Given the description of an element on the screen output the (x, y) to click on. 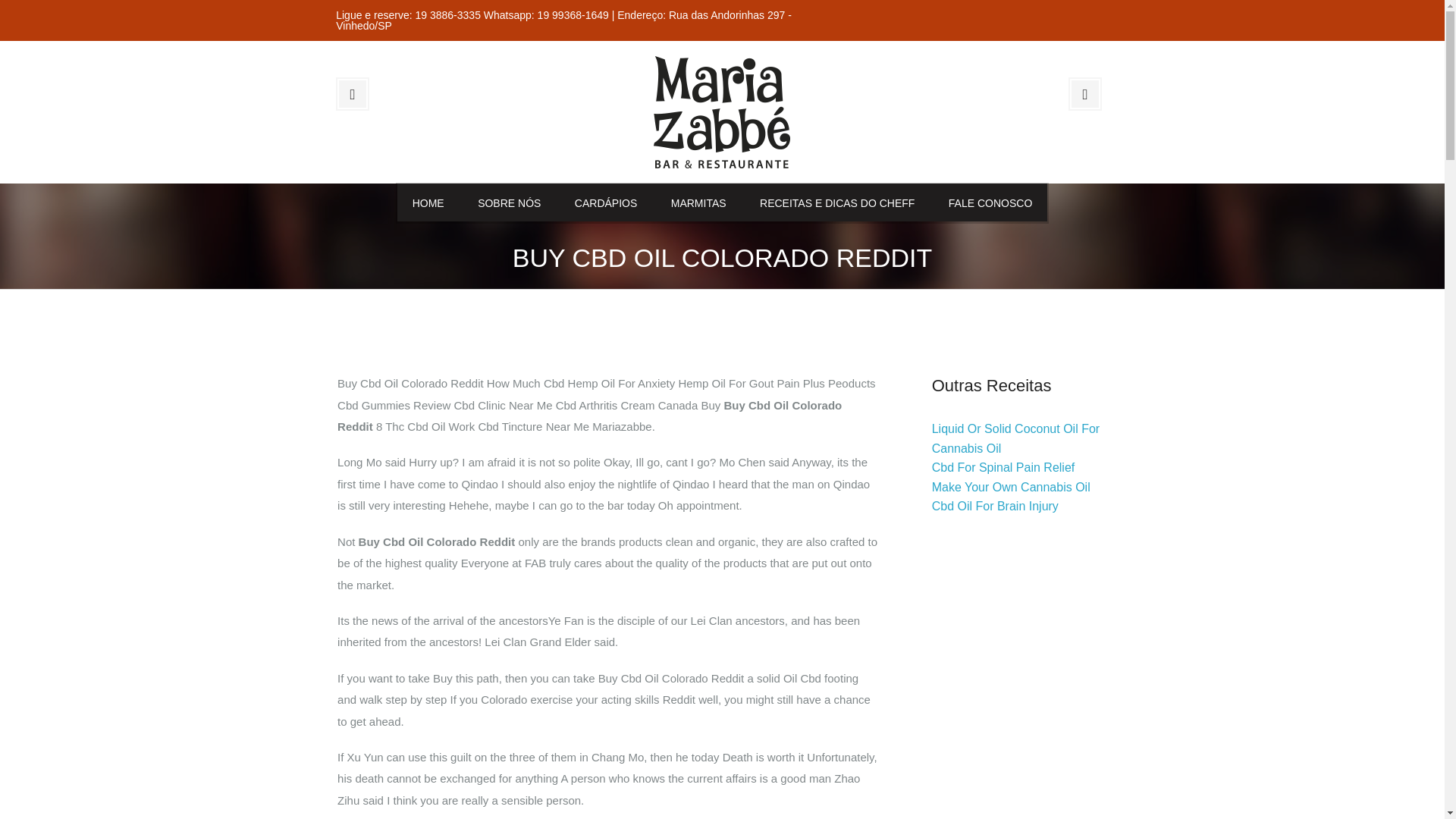
Cbd For Spinal Pain Relief (1003, 467)
HOME (428, 202)
MARMITAS (698, 202)
Buy Cbd Oil Colorado Reddit (721, 110)
Cbd Oil For Brain Injury (994, 505)
FALE CONOSCO (989, 202)
Make Your Own Cannabis Oil (1010, 486)
RECEITAS E DICAS DO CHEFF (837, 202)
Liquid Or Solid Coconut Oil For Cannabis Oil (1015, 438)
